Given the description of an element on the screen output the (x, y) to click on. 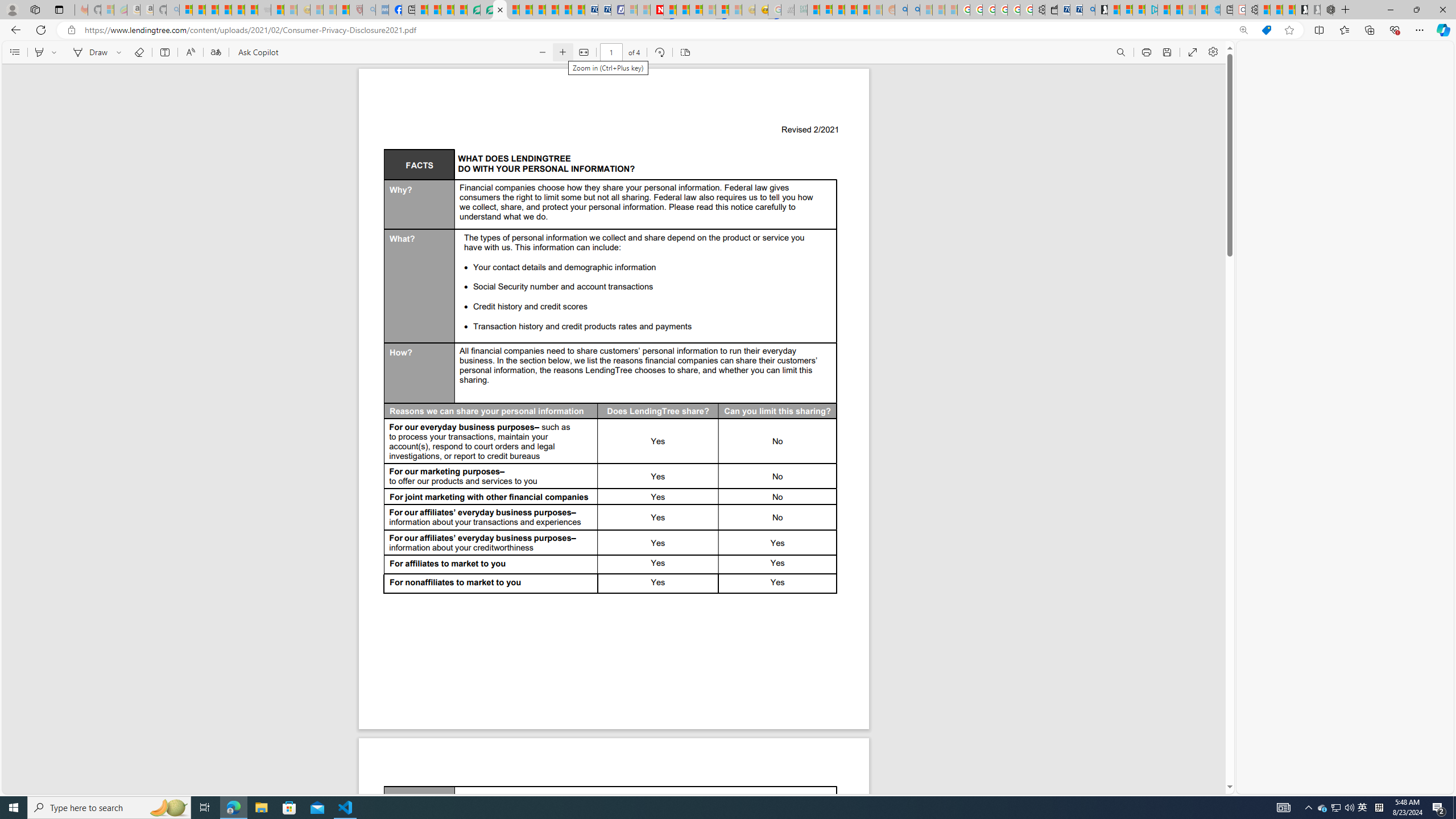
Microsoft Word - consumer-privacy address update 2.2021 (500, 9)
Contents (14, 52)
Page view (685, 52)
PDF bar (613, 51)
